Given the description of an element on the screen output the (x, y) to click on. 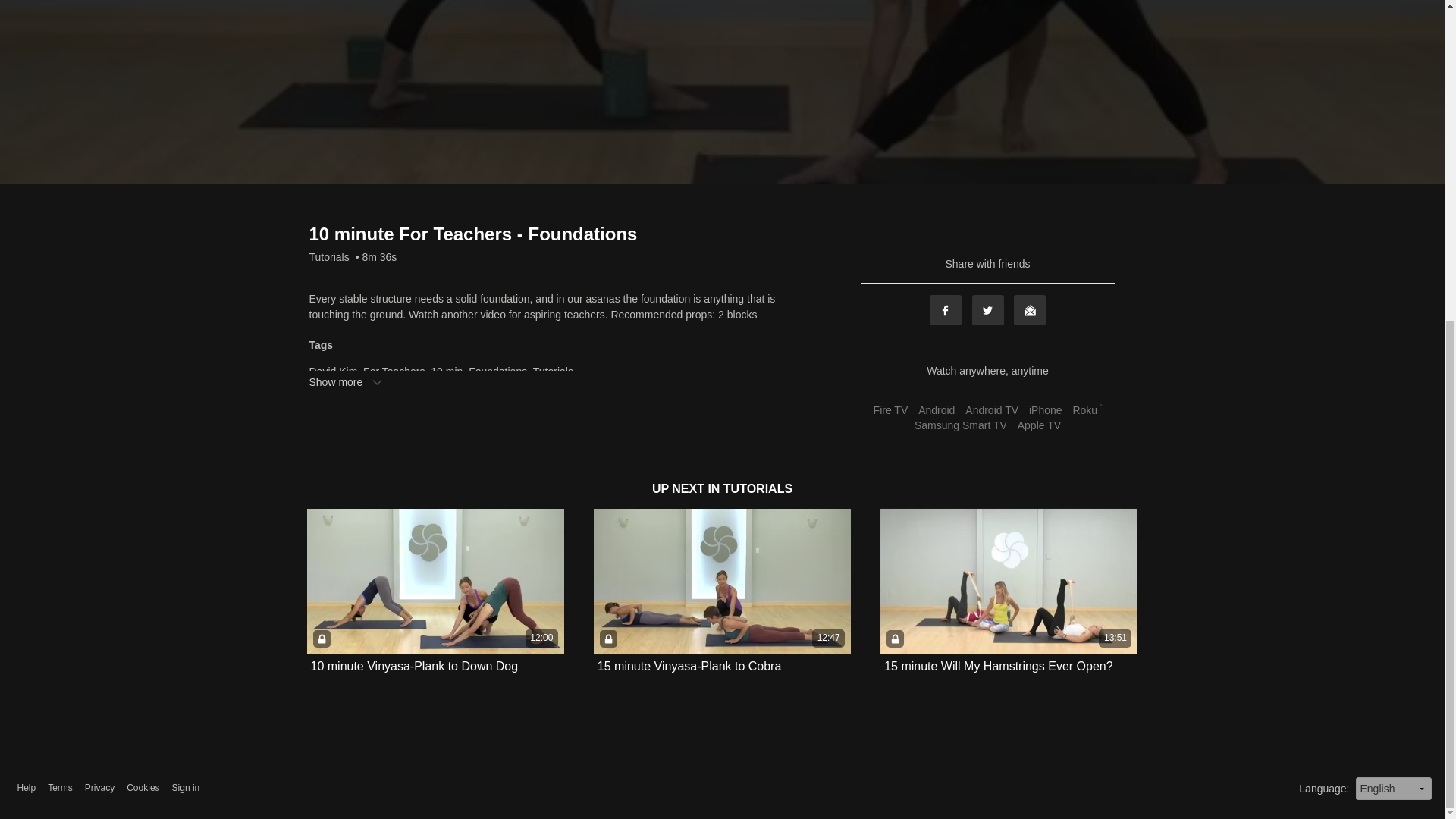
10 min (446, 371)
Foundations (497, 371)
Samsung Smart TV (960, 425)
Email (1029, 309)
10 minute Vinyasa-Plank to Down Dog (414, 666)
iPhone (1045, 410)
Android TV (991, 410)
David Kim (333, 371)
Apple TV (1038, 425)
TUTORIALS (757, 488)
Twitter (988, 309)
For Teachers (393, 371)
Tutorials (552, 371)
Tutorials (328, 256)
15 minute Will My Hamstrings Ever Open? (997, 666)
